Given the description of an element on the screen output the (x, y) to click on. 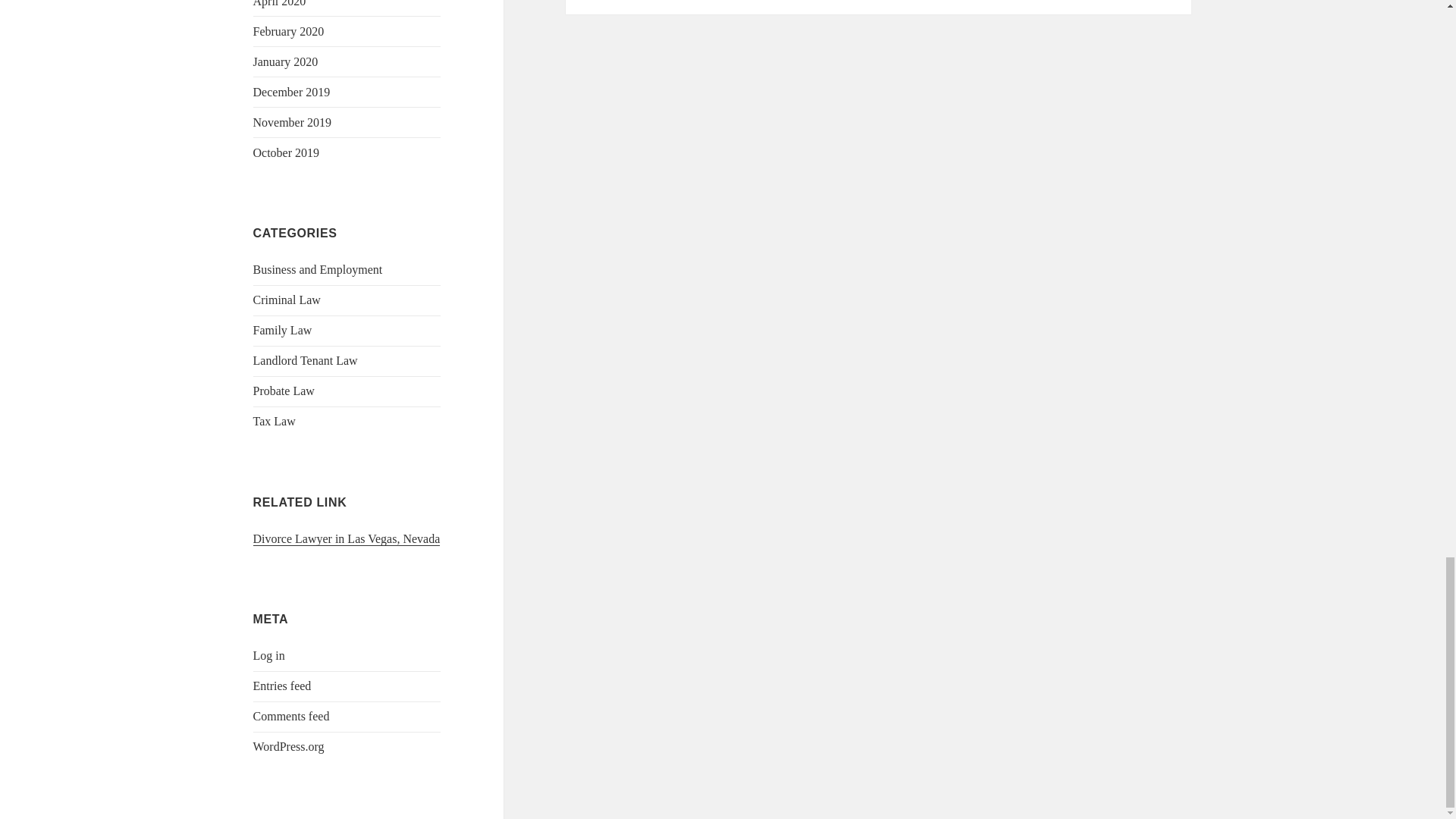
January 2020 (285, 61)
November 2019 (292, 122)
February 2020 (288, 31)
April 2020 (279, 3)
December 2019 (291, 91)
